Given the description of an element on the screen output the (x, y) to click on. 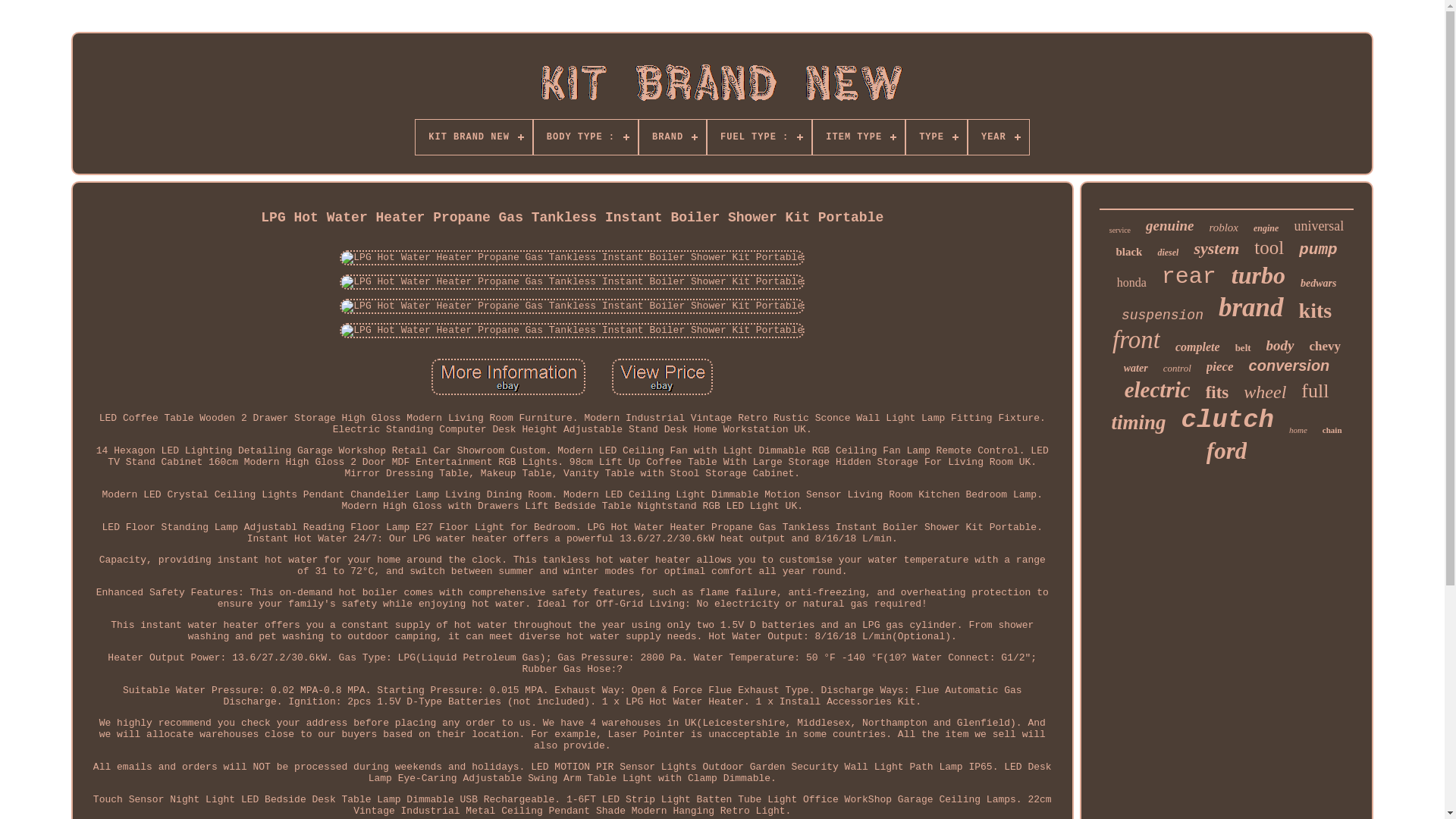
KIT BRAND NEW (473, 136)
FUEL TYPE : (758, 136)
BODY TYPE : (585, 136)
BRAND (672, 136)
